Given the description of an element on the screen output the (x, y) to click on. 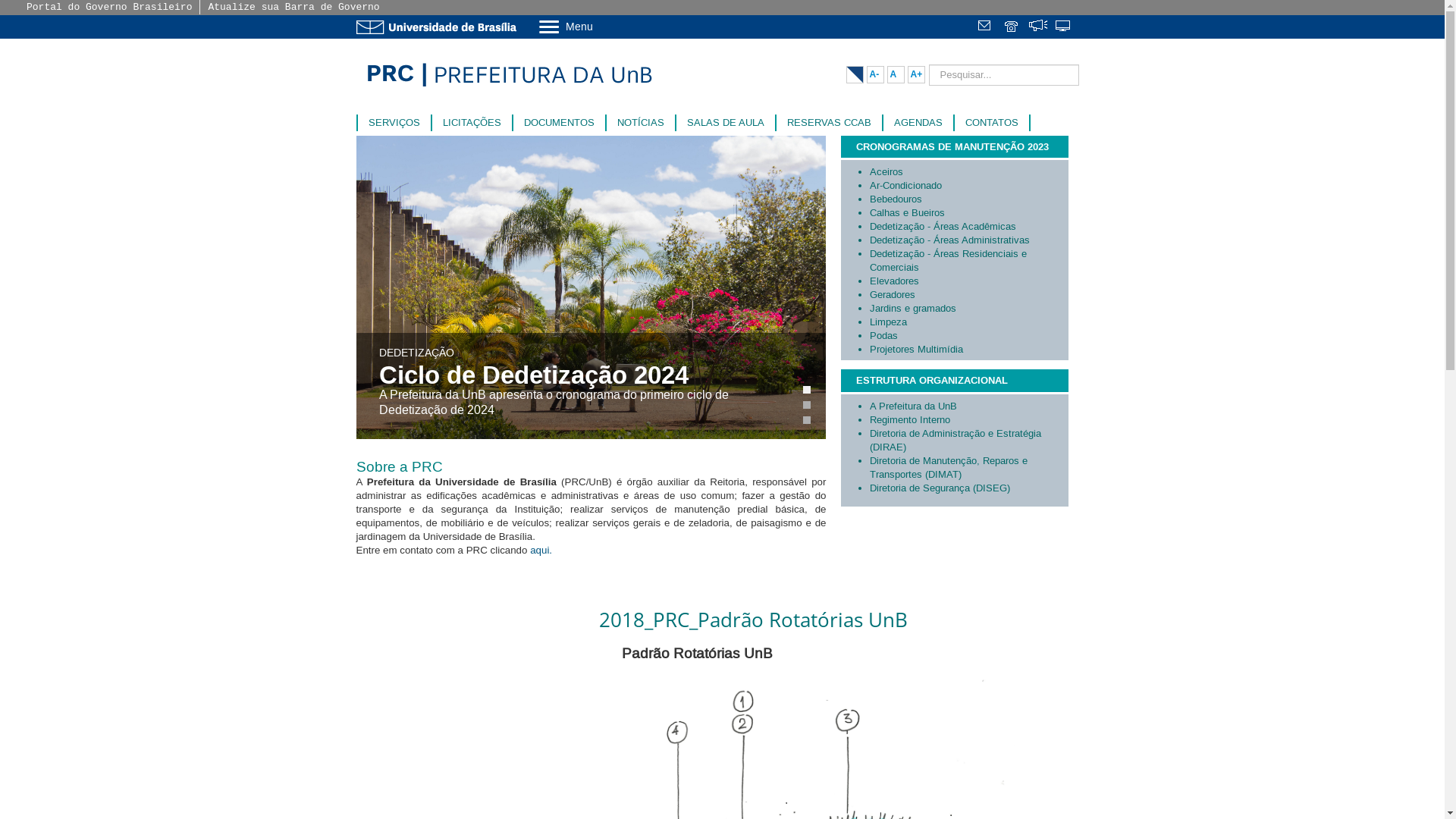
Fala.BR Element type: hover (1037, 27)
Podas Element type: text (966, 335)
A Prefeitura da UnB Element type: text (966, 406)
CONTATOS Element type: text (990, 122)
Menu Element type: text (604, 25)
  Element type: text (1063, 27)
Geradores Element type: text (966, 294)
Ir para o Portal da UnB Element type: hover (439, 26)
AGENDAS Element type: text (917, 122)
Limpeza Element type: text (966, 322)
RESERVAS CCAB Element type: text (828, 122)
Atualize sua Barra de Governo Element type: text (293, 6)
Ar-Condicionado Element type: text (966, 185)
Elevadores Element type: text (966, 281)
Webmail Element type: hover (985, 27)
Calhas e Bueiros Element type: text (966, 212)
Aceiros Element type: text (966, 171)
  Element type: text (1011, 27)
A+ Element type: text (915, 74)
DOCUMENTOS Element type: text (558, 122)
Jardins e gramados Element type: text (966, 308)
A Element type: text (895, 74)
Regimento Interno Element type: text (966, 419)
  Element type: text (1037, 27)
Bebedouros Element type: text (966, 199)
SALAS DE AULA Element type: text (725, 122)
Portal do Governo Brasileiro Element type: text (108, 6)
Telefones da UnB Element type: hover (1011, 27)
Sistemas Element type: hover (1063, 27)
aqui.   Element type: text (543, 549)
A- Element type: text (874, 74)
  Element type: text (985, 27)
